Given the description of an element on the screen output the (x, y) to click on. 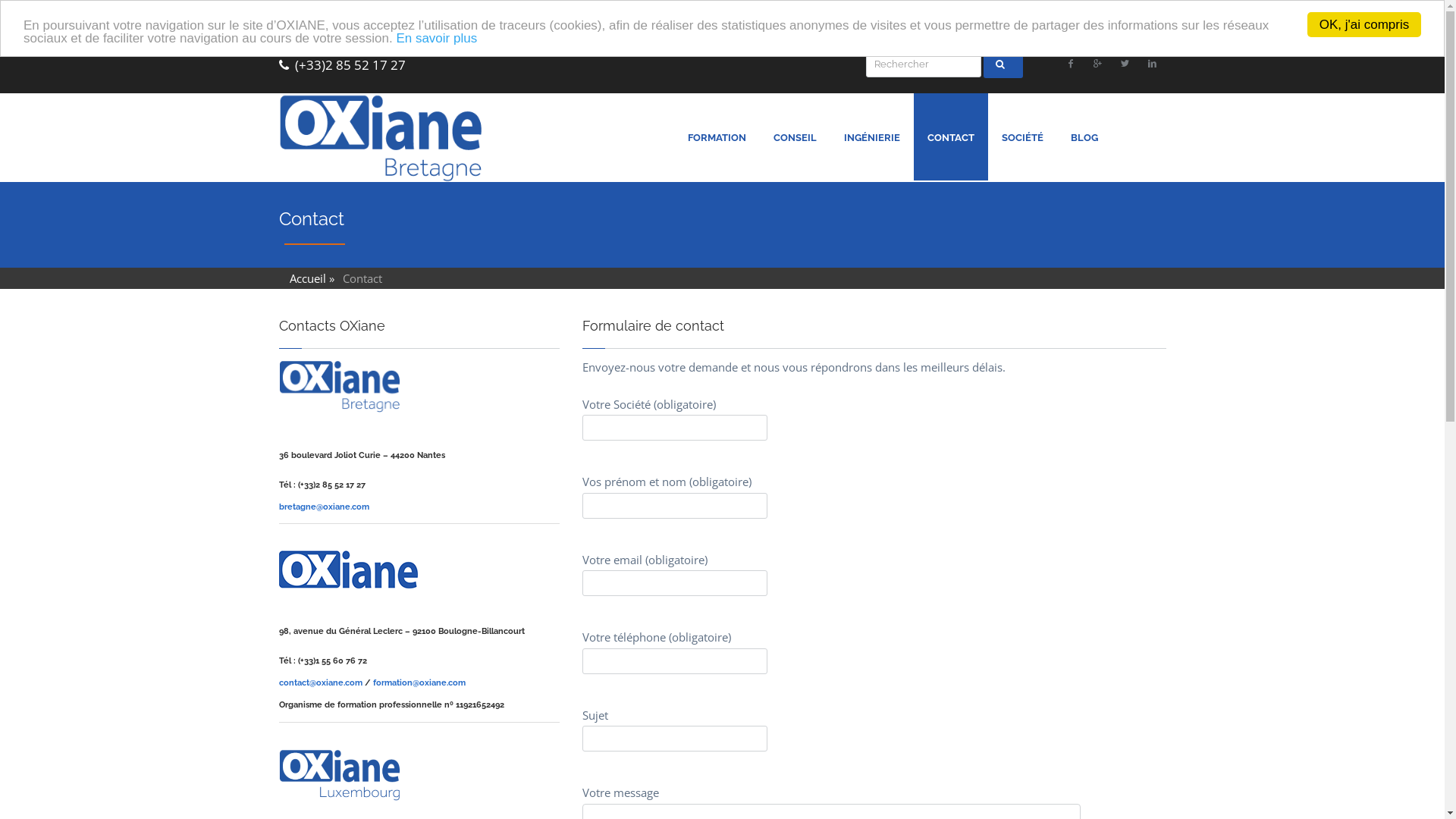
twitter Element type: hover (1125, 63)
Accueil Element type: text (307, 277)
CONSEIL Element type: text (794, 156)
FORMATION Element type: text (716, 156)
formation@oxiane.com Element type: text (419, 682)
bretagne@oxiane.com Element type: text (324, 506)
CONTACT Element type: text (949, 156)
linkedin Element type: hover (1152, 63)
BLOG Element type: text (1084, 156)
OK, j'ai compris Element type: text (1364, 24)
facebook Element type: hover (1070, 63)
En savoir plus Element type: text (435, 37)
gplus Element type: hover (1097, 63)
contact@oxiane.com Element type: text (320, 682)
